Given the description of an element on the screen output the (x, y) to click on. 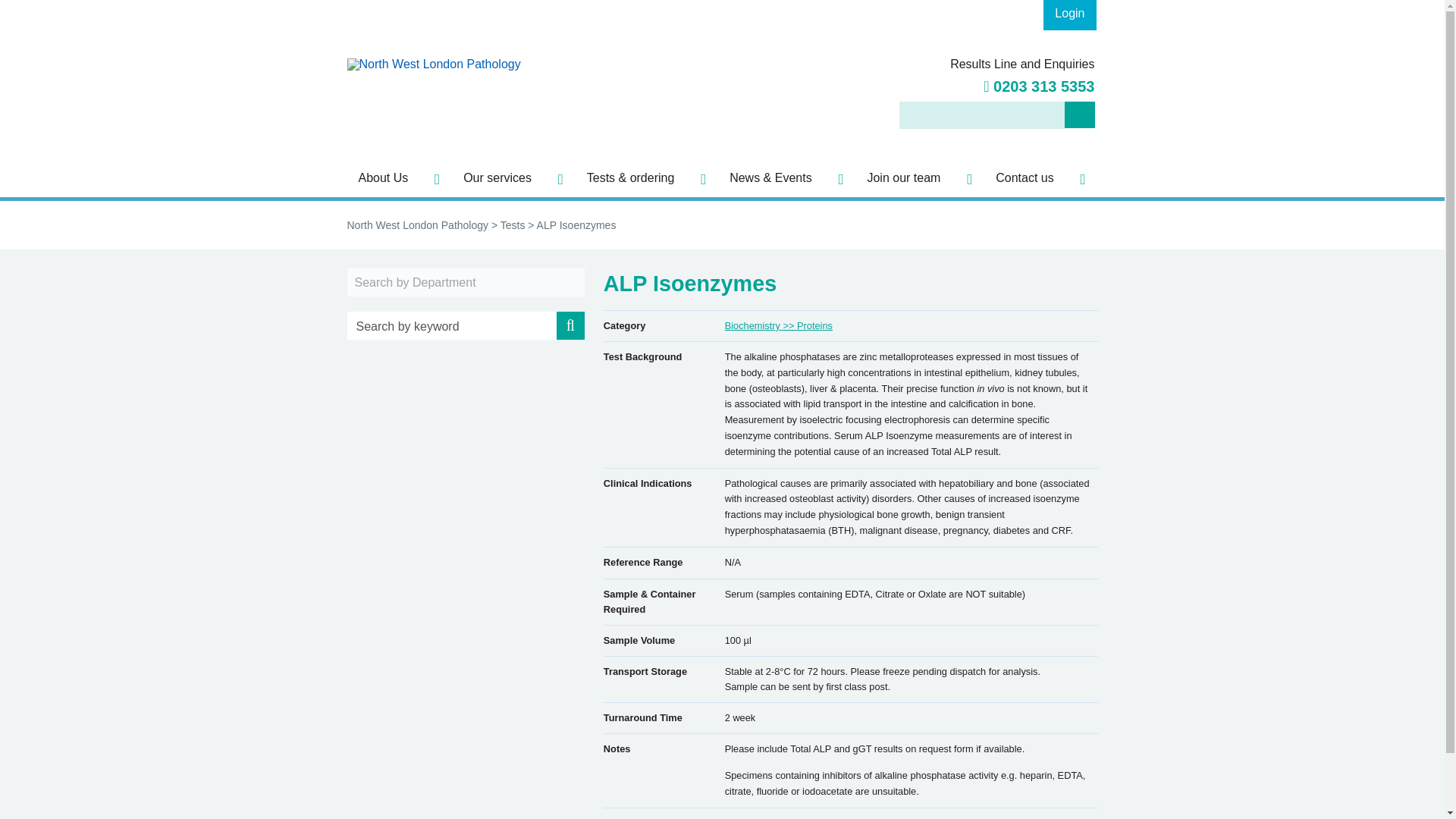
Login (1069, 15)
Go to North West London Pathology. (418, 224)
Go to Tests. (512, 224)
Our services (513, 177)
About Us (399, 177)
0203 313 5353 (1039, 86)
Search by keyword  (466, 327)
